Given the description of an element on the screen output the (x, y) to click on. 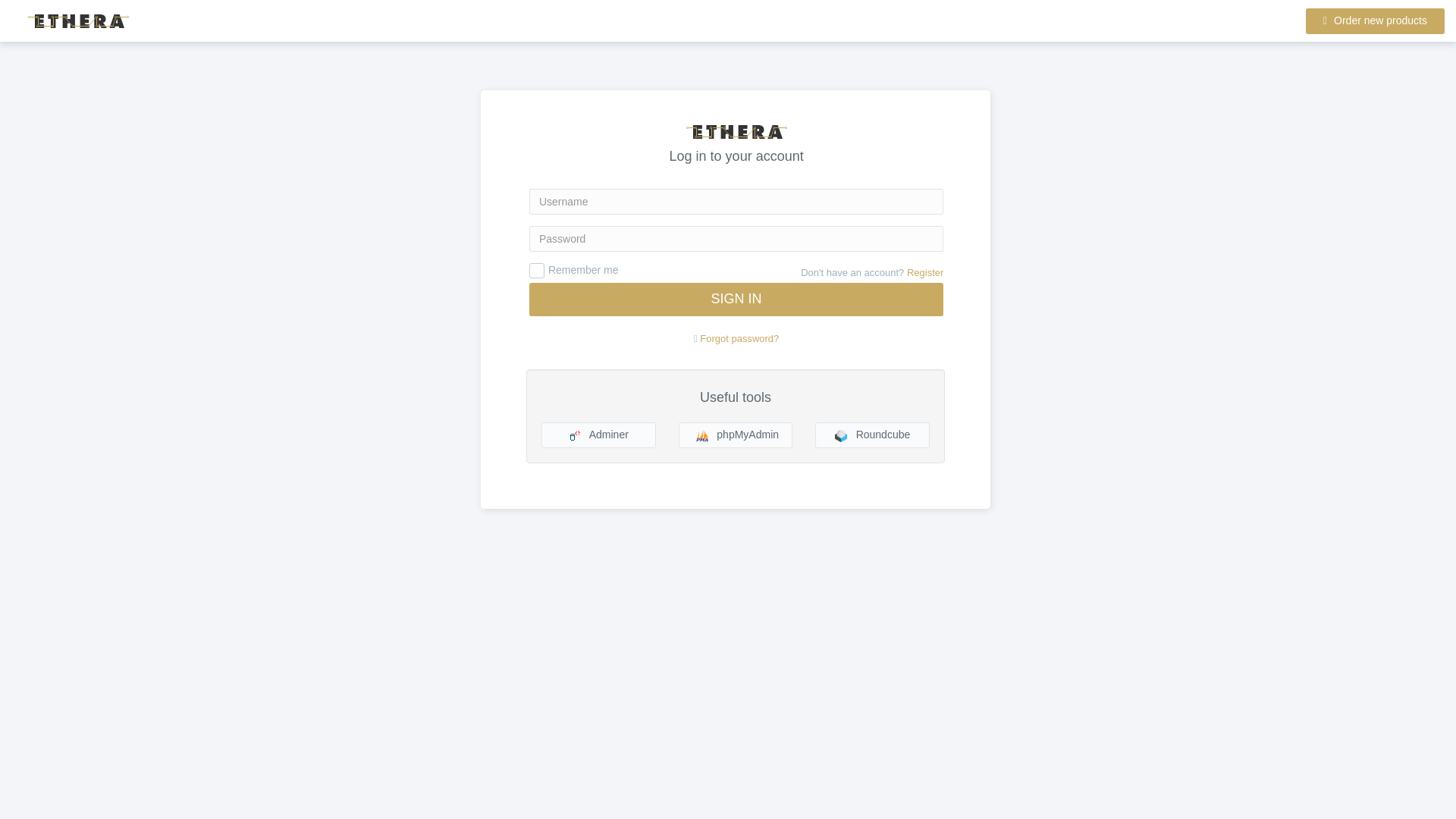
  phpMyAdmin (735, 434)
  Roundcube (872, 434)
Register (925, 272)
Order new products (1375, 21)
Forgot password? (739, 337)
SIGN IN (736, 299)
  Adminer (598, 434)
Order new products (1375, 21)
